Given the description of an element on the screen output the (x, y) to click on. 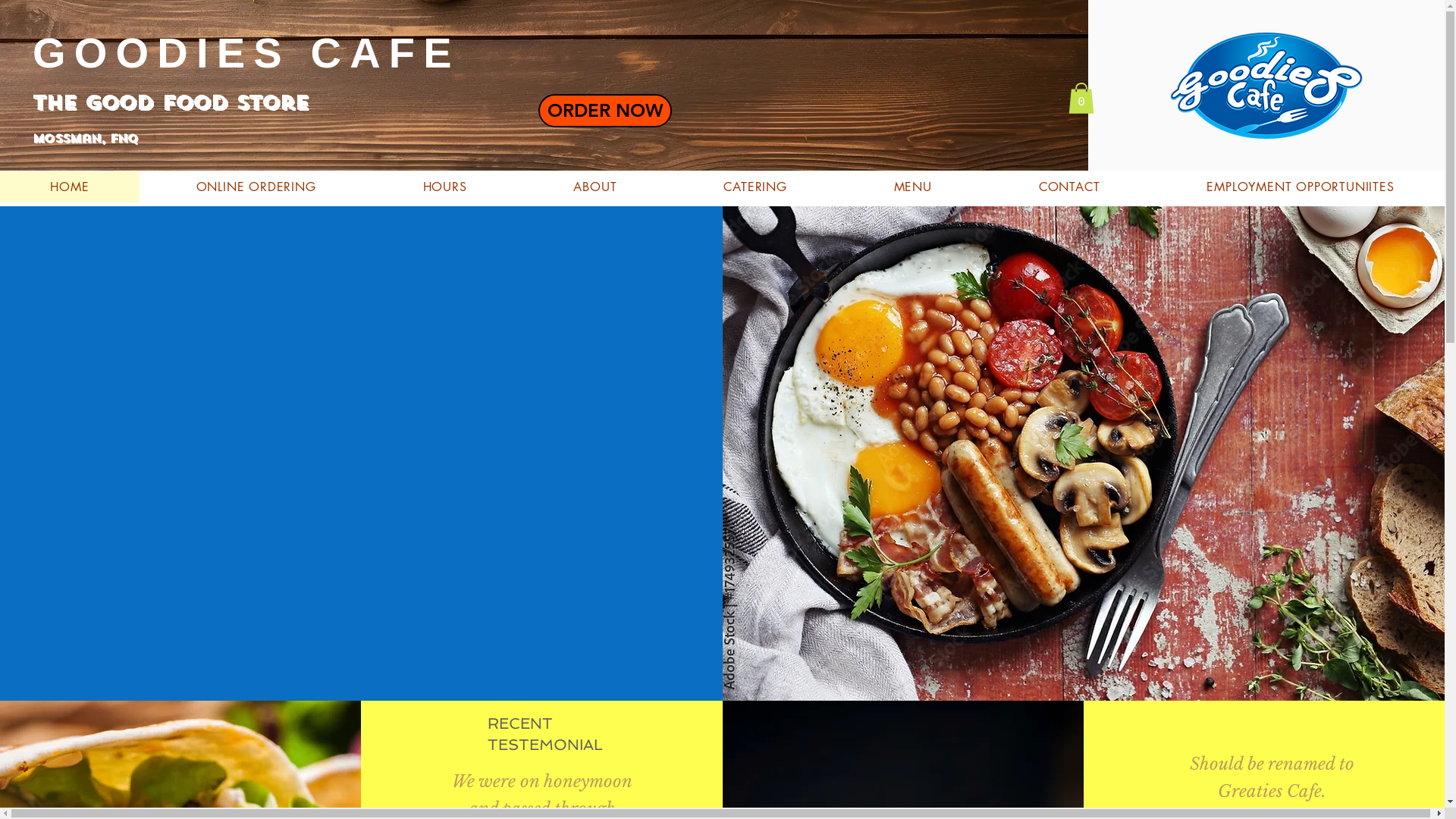
ONLINE ORDERING Element type: text (255, 186)
0 Element type: text (1080, 97)
ORDER NOW Element type: text (604, 110)
GOODIES CAFE Element type: text (246, 52)
CATERING Element type: text (755, 186)
CONTACT Element type: text (1069, 186)
ABOUT Element type: text (595, 186)
Log In Element type: text (1042, 57)
MENU Element type: text (912, 186)
EMPLOYMENT OPPORTUNIITES Element type: text (1300, 186)
HOURS Element type: text (444, 186)
HOME Element type: text (69, 186)
